Given the description of an element on the screen output the (x, y) to click on. 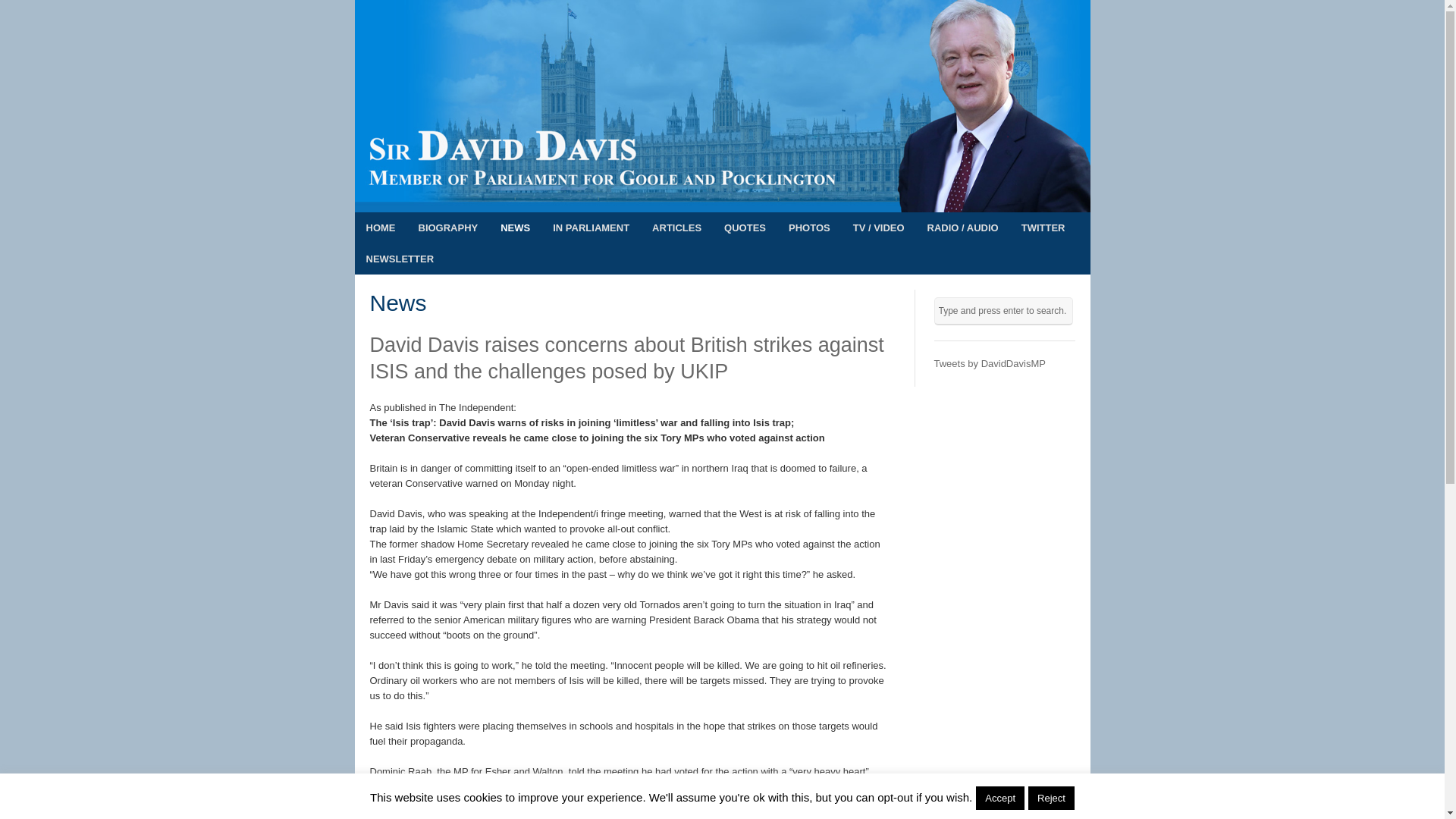
Reject (1050, 797)
News (515, 227)
Articles (676, 227)
Rt Hon David Davis MP Biography (447, 227)
Photos (809, 227)
TV and Video (878, 227)
IN PARLIAMENT (590, 227)
NEWS (515, 227)
ARTICLES (676, 227)
Tweets by DavidDavisMP (989, 363)
HOME (381, 227)
NEWSLETTER (400, 258)
BIOGRAPHY (447, 227)
TWITTER (1043, 227)
QUOTES (745, 227)
